Given the description of an element on the screen output the (x, y) to click on. 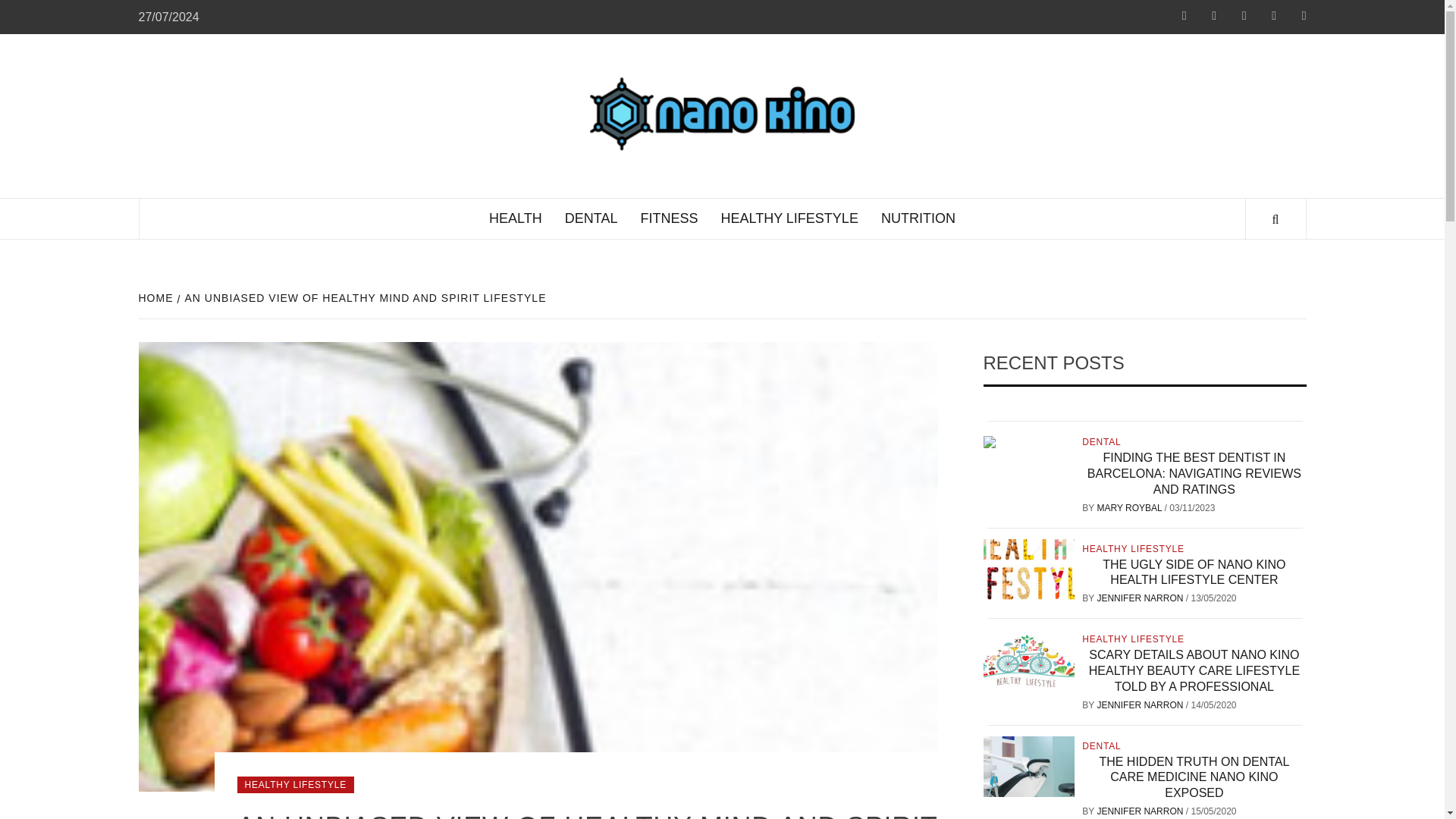
NUTRITION (917, 219)
DENTAL (590, 219)
JENNIFER NARRON (1140, 705)
AN UNBIASED VIEW OF HEALTHY MIND AND SPIRIT LIFESTYLE (363, 297)
HOME (157, 297)
JENNIFER NARRON (1140, 597)
MARY ROYBAL (1129, 507)
HEALTHY LIFESTYLE (1134, 638)
HEALTHY LIFESTYLE (789, 219)
DENTAL (1102, 441)
